Given the description of an element on the screen output the (x, y) to click on. 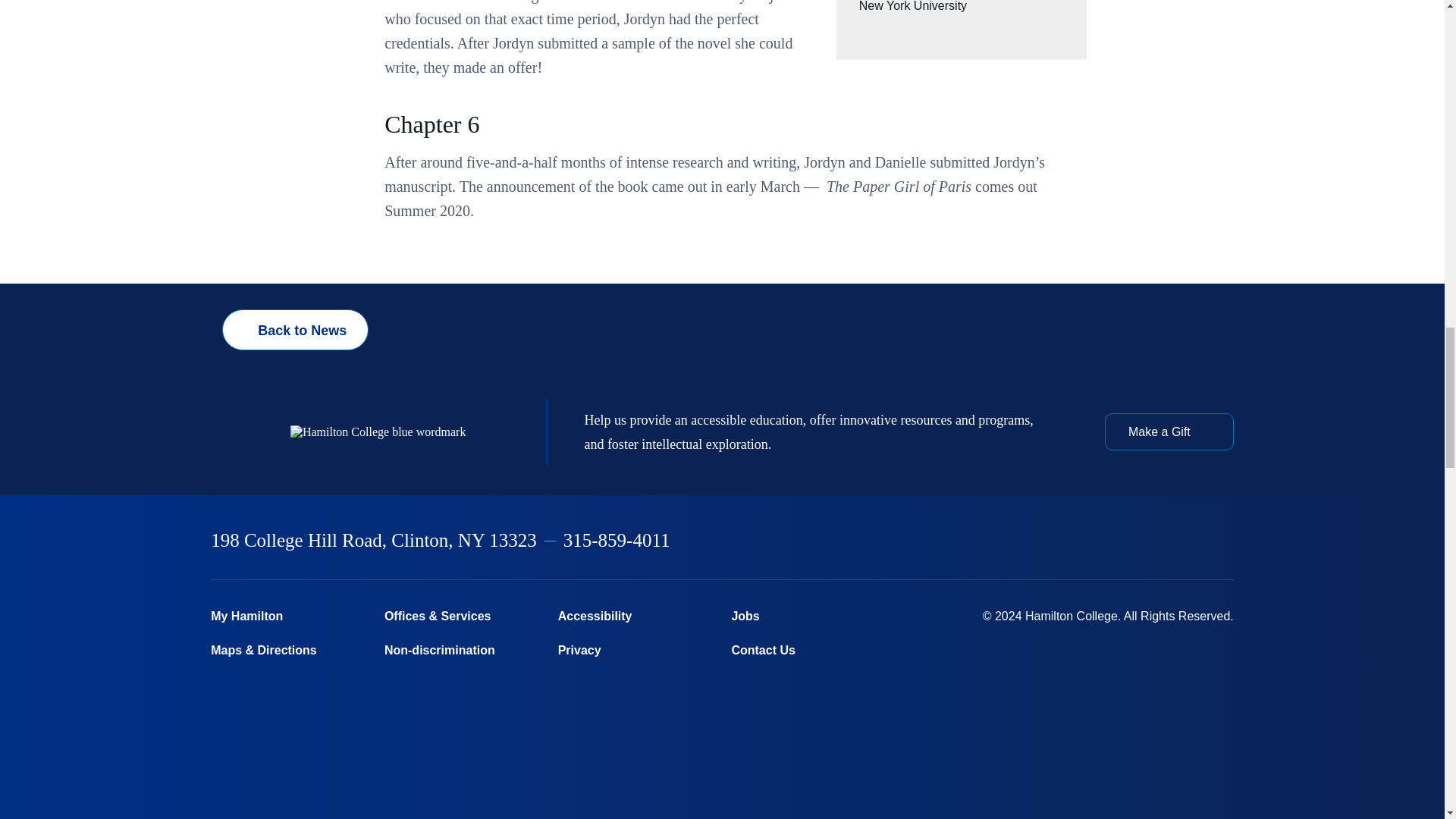
Twitter (1069, 541)
Back to News (295, 329)
Make a Gift (1169, 431)
Instagram (1109, 540)
315-859-4011 (617, 540)
Linkedin (1149, 540)
198 College Hill Road, Clinton, NY 13323 (373, 540)
TikTok (1226, 540)
My Hamilton (288, 616)
Facebook (1029, 540)
